Given the description of an element on the screen output the (x, y) to click on. 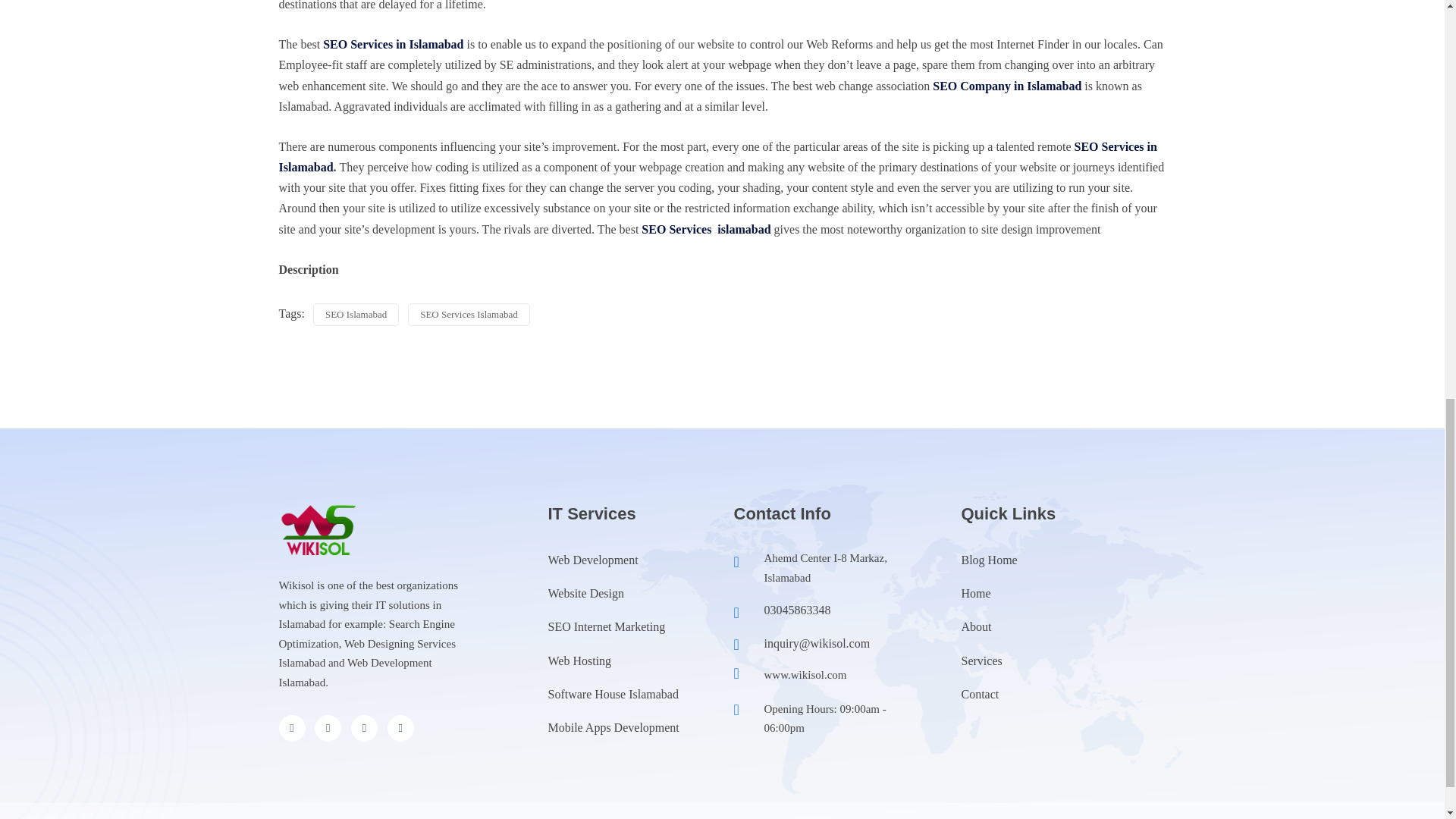
SEO Company in Islamabad (1007, 85)
SEO Services in Islamabad (718, 156)
SEO Services in Islamabad (393, 43)
SEO Services  islamabad (706, 228)
